Given the description of an element on the screen output the (x, y) to click on. 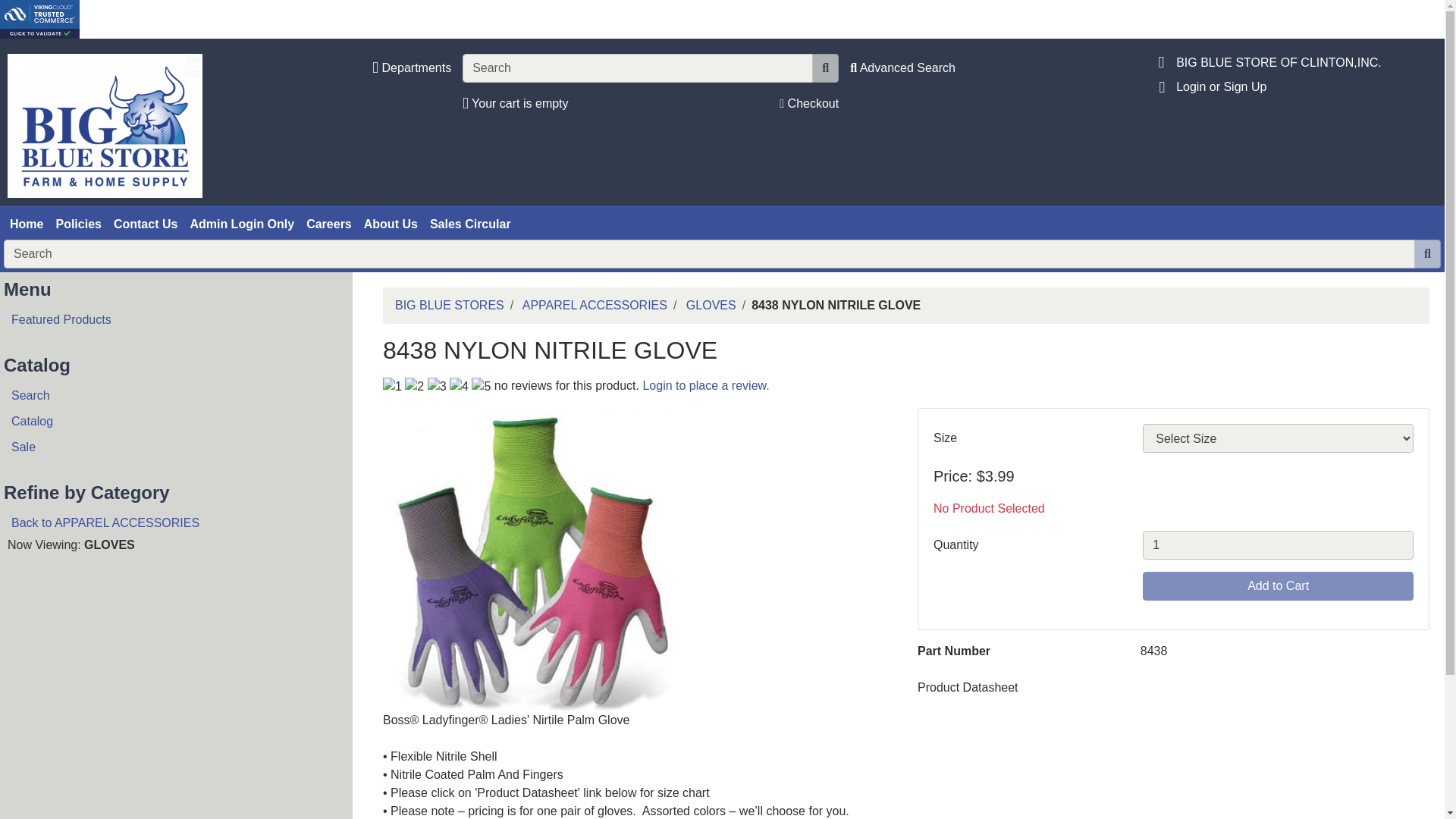
Admin Login Only (241, 224)
Not rated yet! (391, 386)
BIG BLUE STORES (448, 305)
Home (26, 224)
Careers (328, 224)
Search (170, 395)
Login to place a review. (705, 385)
Add to Cart (1277, 585)
GLOVES (710, 305)
Shop Departments (411, 67)
Catalog (170, 421)
Advanced Search (902, 67)
Open Site Menu (1161, 62)
Featured Products (170, 319)
Login or Sign Up (1221, 86)
